Given the description of an element on the screen output the (x, y) to click on. 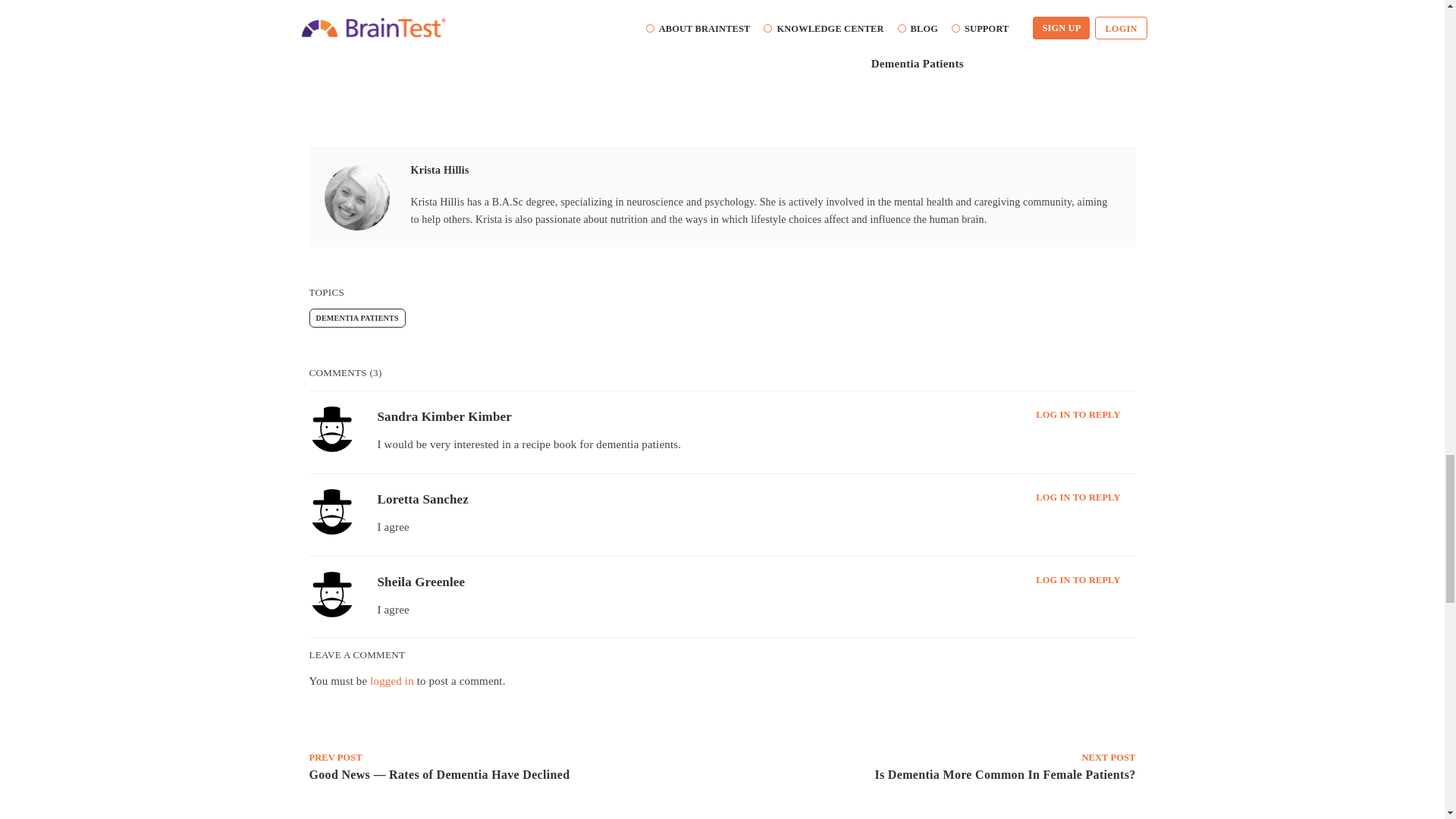
logged in (391, 680)
LOG IN TO REPLY (1077, 497)
Author: Krista Hillis (439, 170)
NEXT POST: Is Dementia More Common In Female Patients? (931, 776)
LOG IN TO REPLY (1077, 579)
Why Do Dementia Patients Have Bad Dreams? (721, 31)
Why Do Dementia Patients Have Bad Dreams? (708, 49)
Krista Hillis (439, 170)
Author: Krista Hillis (357, 197)
LOG IN TO REPLY (1077, 414)
